Given the description of an element on the screen output the (x, y) to click on. 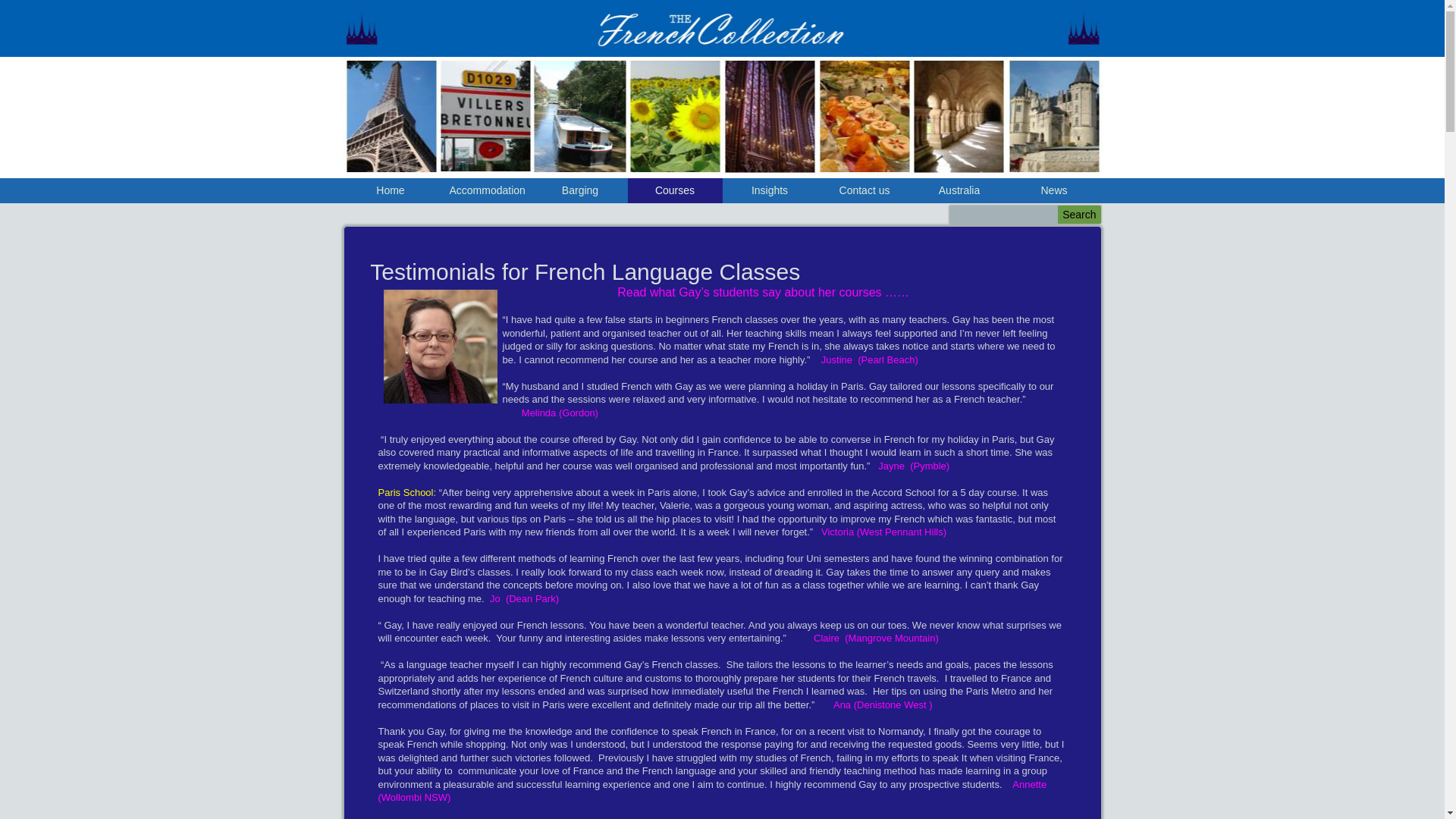
Barging Element type: text (579, 190)
Home Element type: text (389, 190)
Insights Element type: text (768, 190)
Courses Element type: text (674, 190)
Australia Element type: text (958, 190)
Contact us Element type: text (864, 190)
News Element type: text (1054, 190)
Accommodation Element type: text (485, 190)
Search Element type: text (1078, 214)
